Given the description of an element on the screen output the (x, y) to click on. 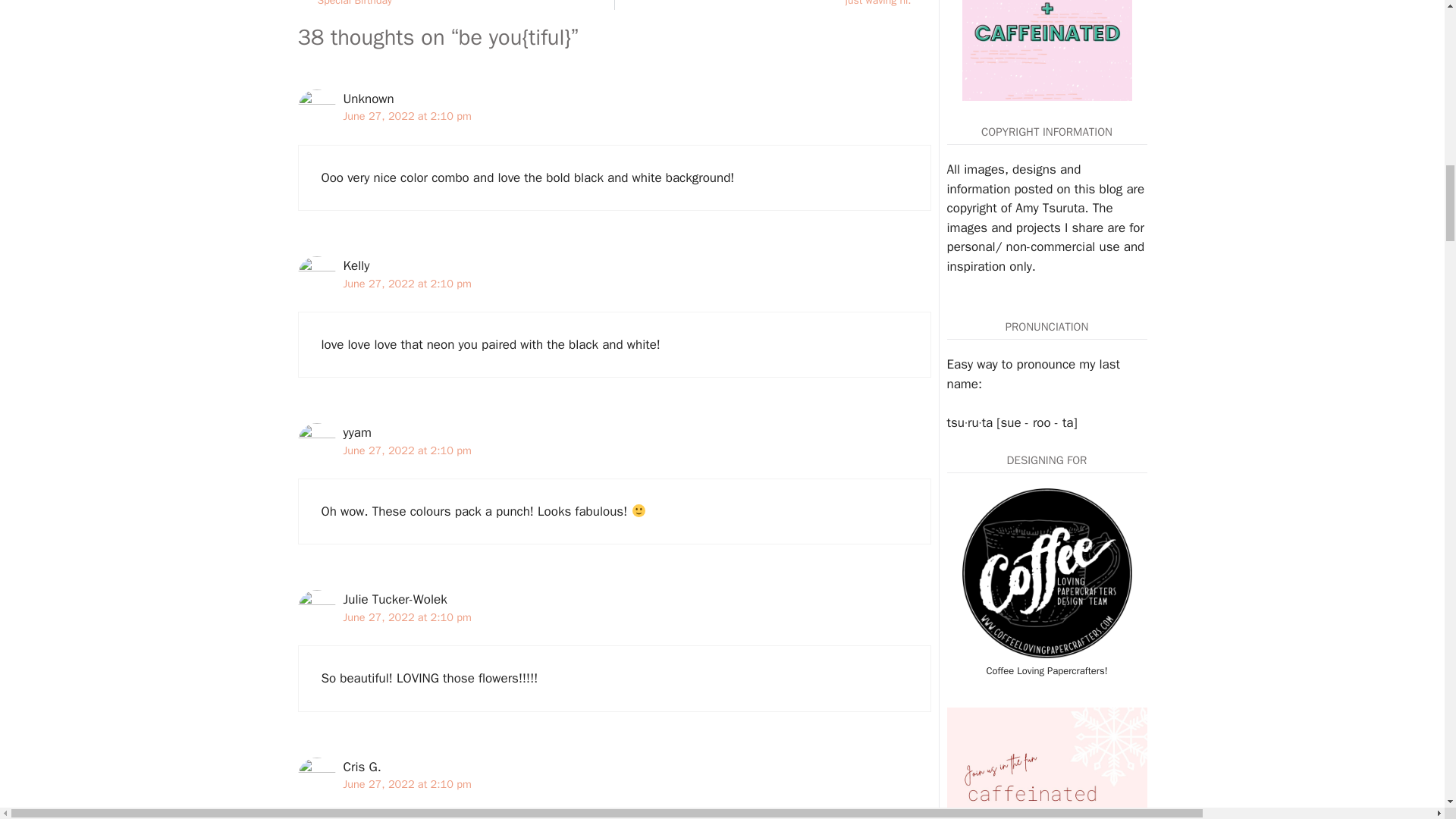
June 27, 2022 at 2:10 pm (454, 4)
June 27, 2022 at 2:10 pm (772, 4)
June 27, 2022 at 2:10 pm (406, 450)
June 27, 2022 at 2:10 pm (406, 784)
June 27, 2022 at 2:10 pm (406, 283)
